Given the description of an element on the screen output the (x, y) to click on. 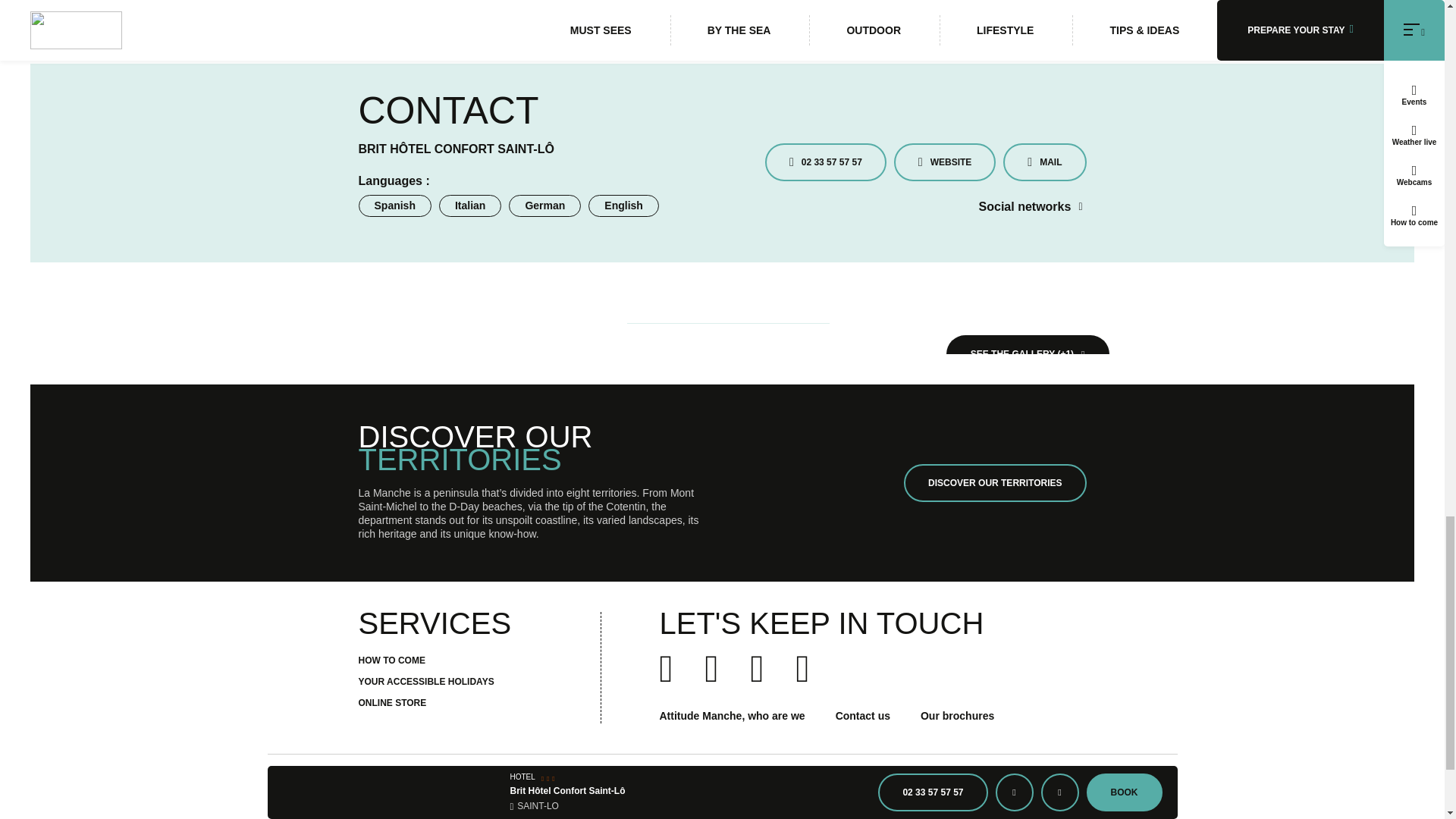
Facebook - new window (1080, 206)
02 33 57 57 57 (825, 161)
MAIL (1044, 161)
SEE ON THE MAP (1016, 1)
Facebook - new window (1080, 206)
WEBSITE (944, 161)
